Given the description of an element on the screen output the (x, y) to click on. 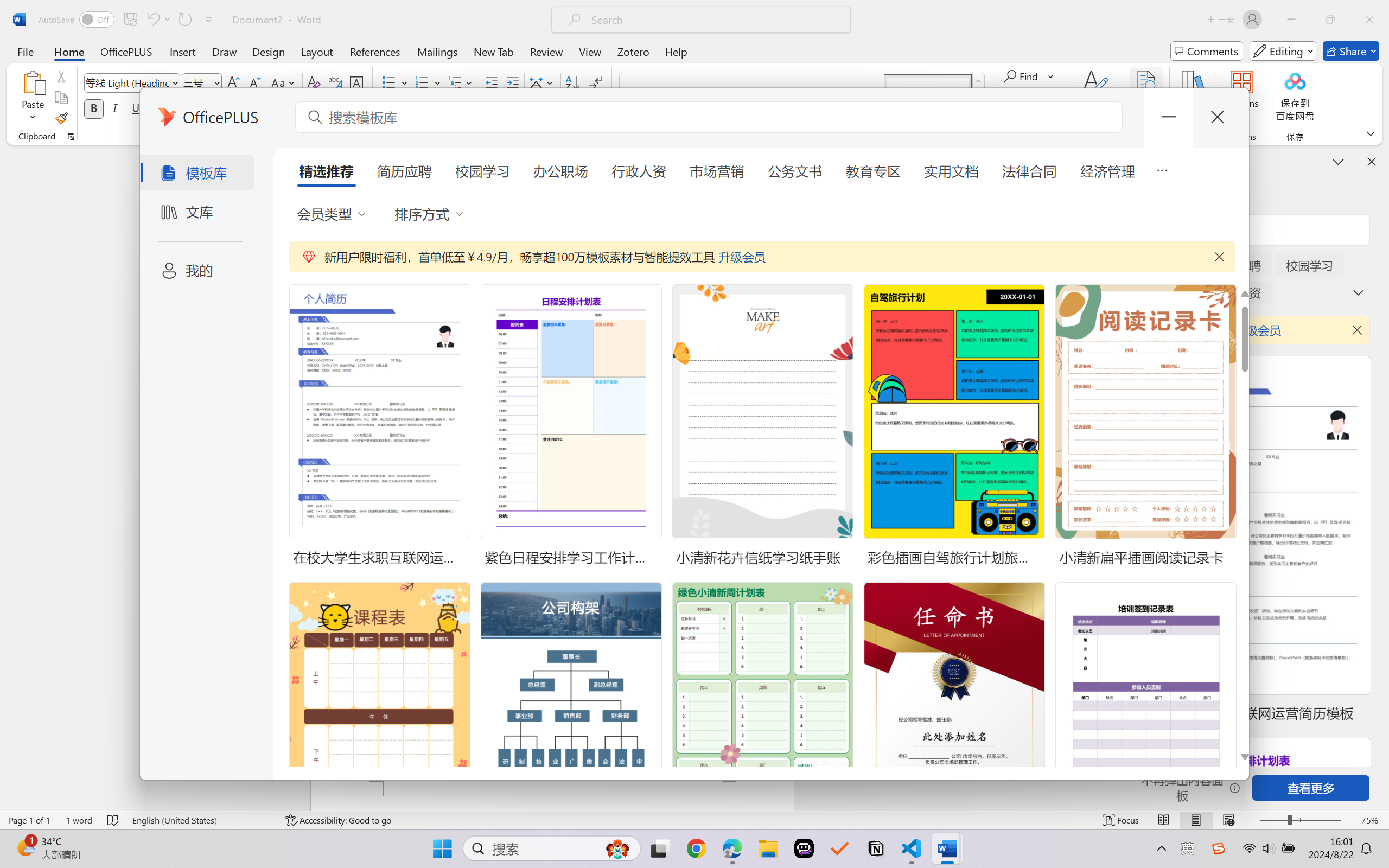
Bold (94, 108)
Poe (804, 848)
Share (1350, 51)
Notion (875, 848)
Ribbon Display Options (1370, 132)
Comments (1206, 50)
AutomationID: DynamicSearchBoxGleamImage (617, 848)
Find (1022, 75)
